Given the description of an element on the screen output the (x, y) to click on. 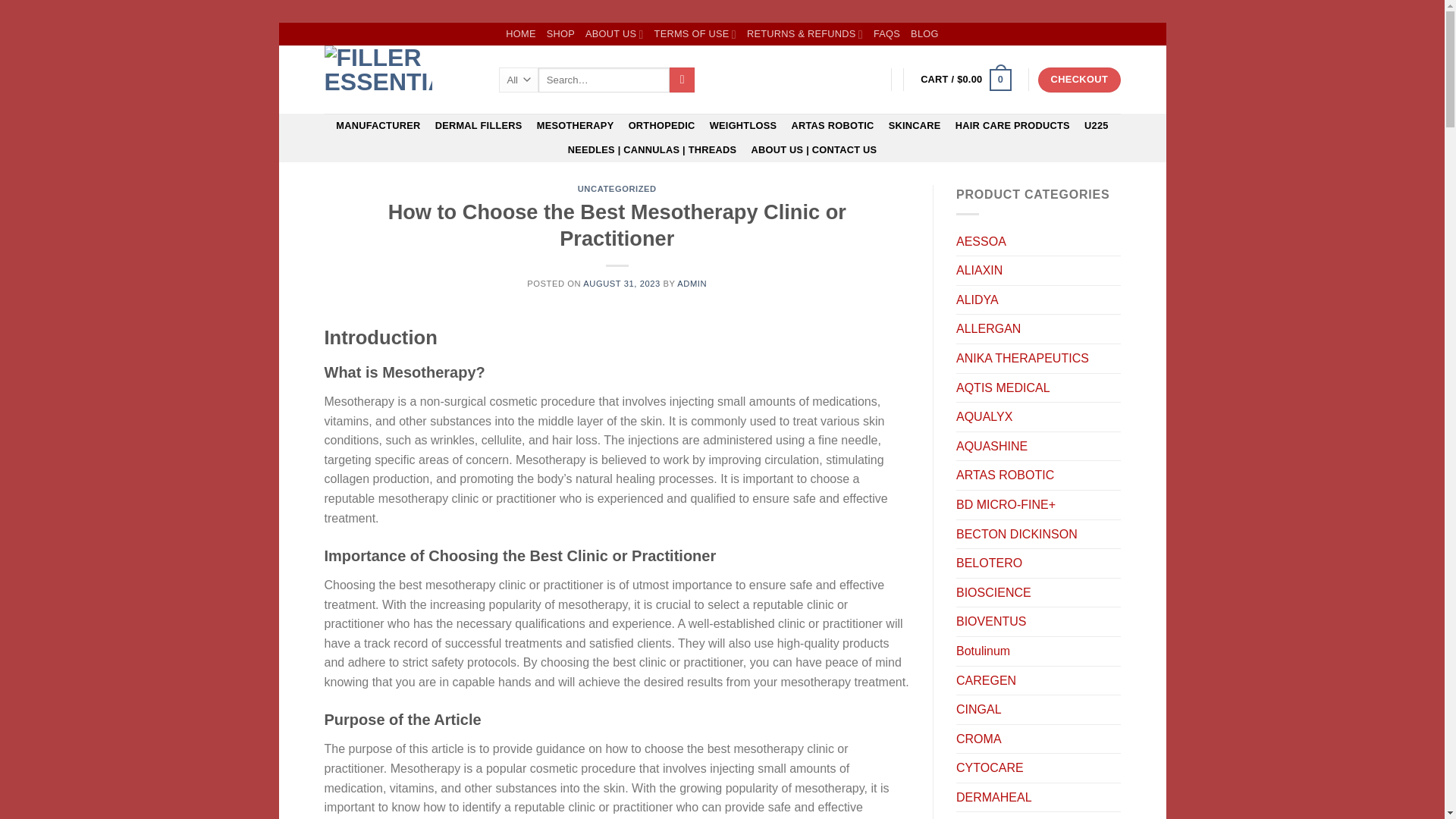
WEIGHTLOSS (742, 125)
UNCATEGORIZED (617, 188)
AUGUST 31, 2023 (621, 283)
MESOTHERAPY (575, 125)
ORTHOPEDIC (661, 125)
HOME (520, 33)
Search (681, 80)
ABOUT US (614, 33)
TERMS OF USE (694, 33)
DERMAL FILLERS (478, 125)
